Given the description of an element on the screen output the (x, y) to click on. 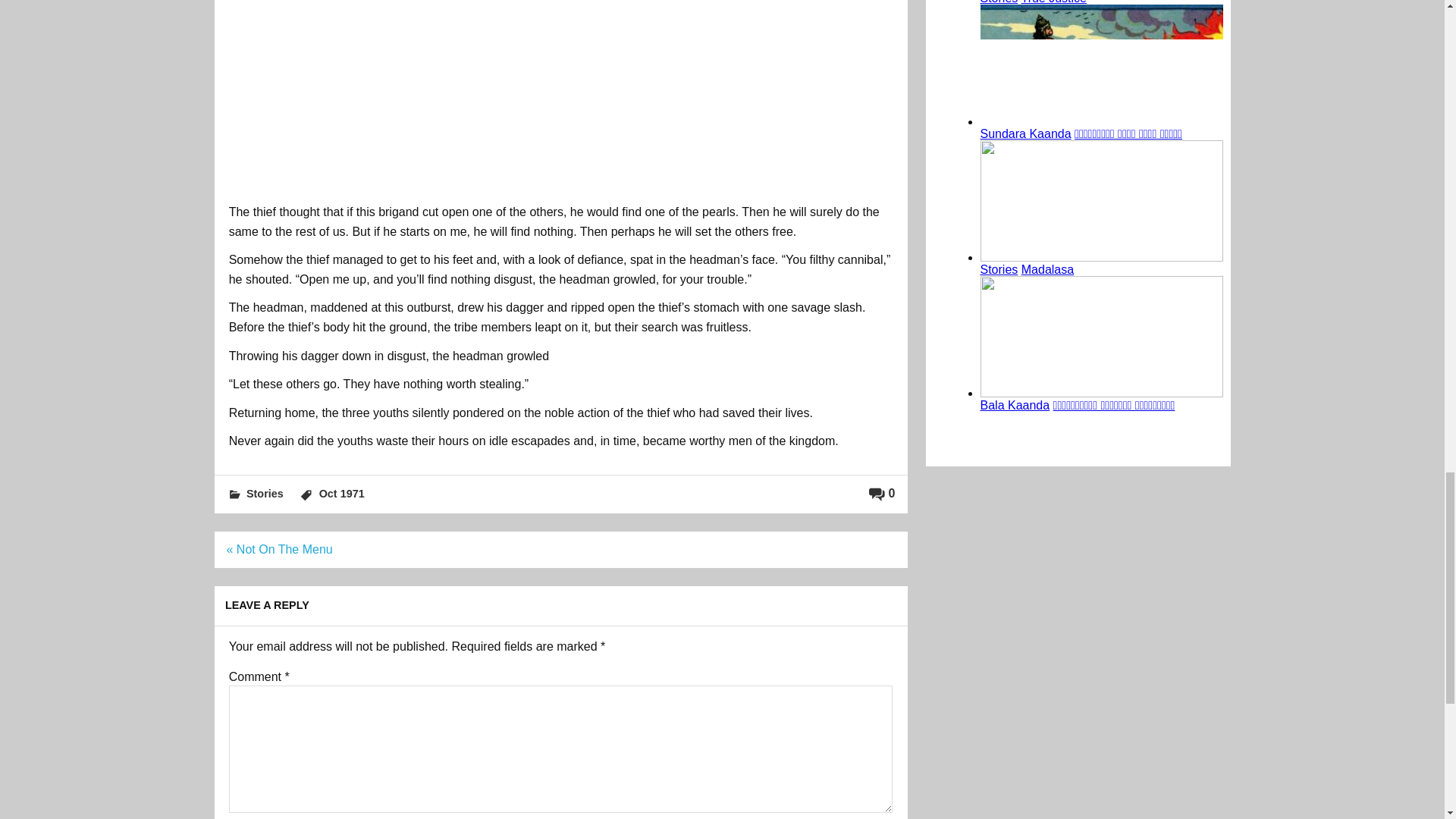
Oct 1971 (341, 493)
Stories (264, 493)
0 (882, 492)
